Given the description of an element on the screen output the (x, y) to click on. 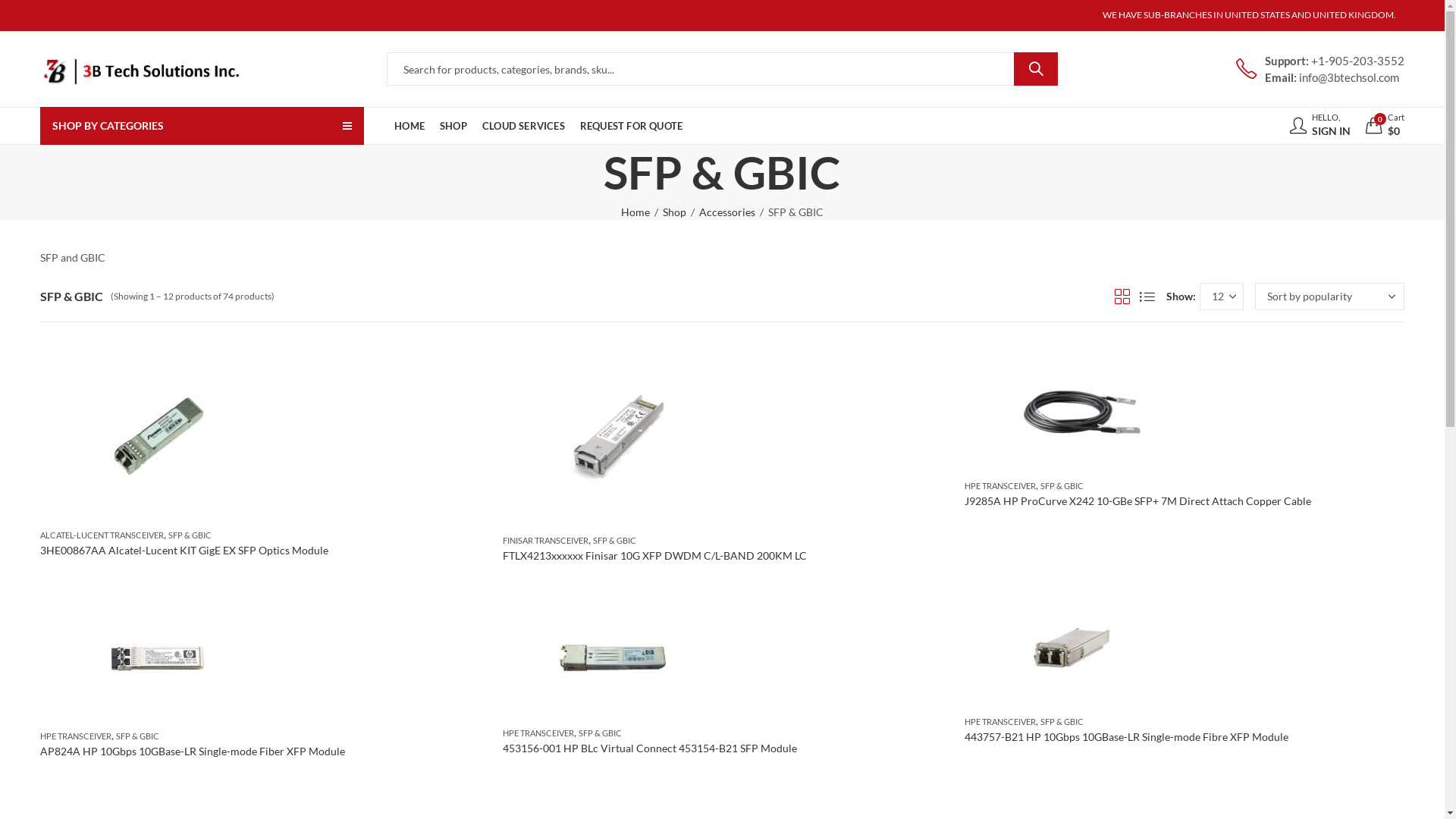
HPE TRANSCEIVER Element type: text (999, 485)
SFP & GBIC Element type: text (1061, 485)
3HE00867AA Alcatel-Lucent KIT GigE EX SFP Optics Module Element type: text (184, 549)
ALCATEL-LUCENT TRANSCEIVER Element type: text (101, 534)
CLOUD SERVICES Element type: text (523, 125)
SFP & GBIC Element type: text (614, 540)
SFP & GBIC Element type: text (137, 735)
SEARCH Element type: text (1035, 68)
HELLO,
SIGN IN Element type: text (1319, 126)
HPE TRANSCEIVER Element type: text (75, 735)
453156-001 HP BLc Virtual Connect 453154-B21 SFP Module Element type: text (649, 747)
443757-B21 HP 10Gbps 10GBase-LR Single-mode Fibre XFP Module Element type: text (1126, 736)
Home Element type: text (635, 211)
FINISAR TRANSCEIVER Element type: text (545, 540)
HPE TRANSCEIVER Element type: text (538, 732)
List View Element type: text (1146, 296)
Grid View Element type: text (1121, 296)
SHOP Element type: text (453, 125)
0
Cart
$0 Element type: text (1384, 126)
HOME Element type: text (409, 125)
Shop Element type: text (674, 211)
SFP & GBIC Element type: text (189, 534)
SFP & GBIC Element type: text (599, 732)
AP824A HP 10Gbps 10GBase-LR Single-mode Fiber XFP Module Element type: text (192, 750)
FTLX4213xxxxxx Finisar 10G XFP DWDM C/L-BAND 200KM LC Element type: text (654, 555)
Accessories Element type: text (727, 211)
SFP & GBIC Element type: text (1061, 721)
REQUEST FOR QUOTE Element type: text (631, 125)
HPE TRANSCEIVER Element type: text (999, 721)
